Given the description of an element on the screen output the (x, y) to click on. 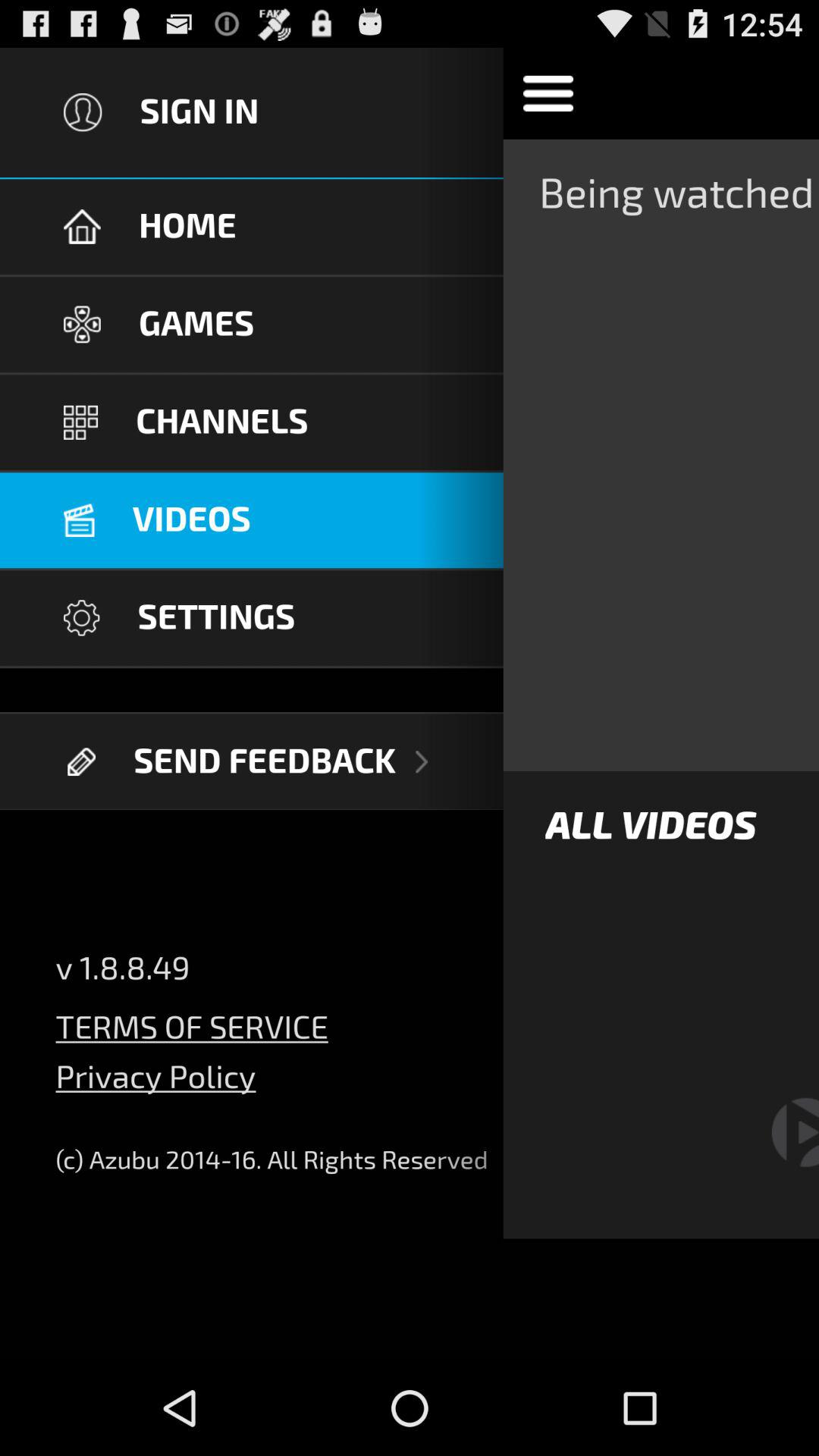
tap icon below the v 1 8 item (191, 1017)
